Given the description of an element on the screen output the (x, y) to click on. 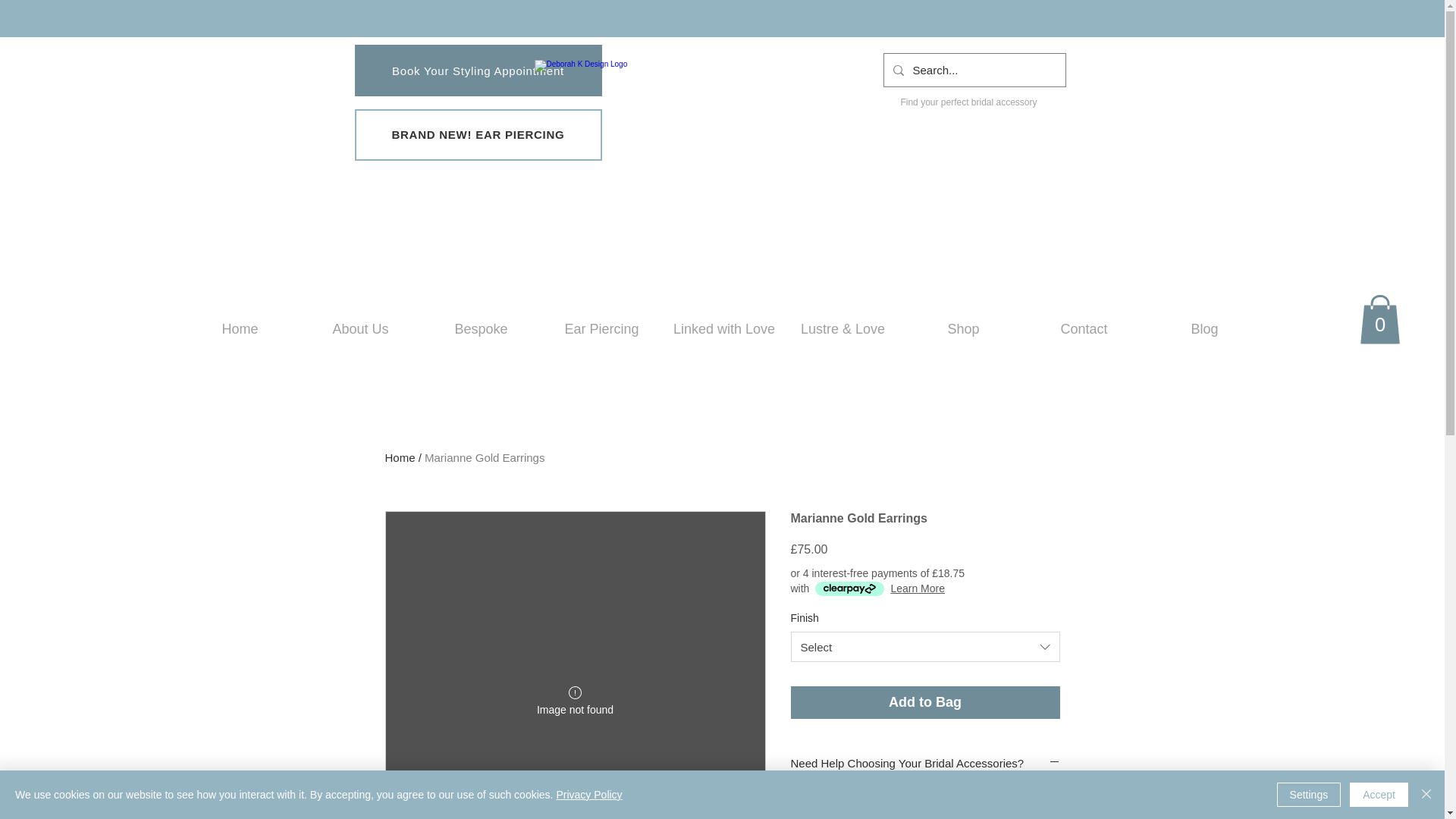
About Us (359, 329)
Home (399, 457)
Contact (1083, 329)
Book Your Styling Appointment (478, 70)
Ear Piercing (601, 329)
Shop (962, 329)
Linked with Love (722, 329)
Bespoke (480, 329)
Blog (1204, 329)
Home (239, 329)
